Given the description of an element on the screen output the (x, y) to click on. 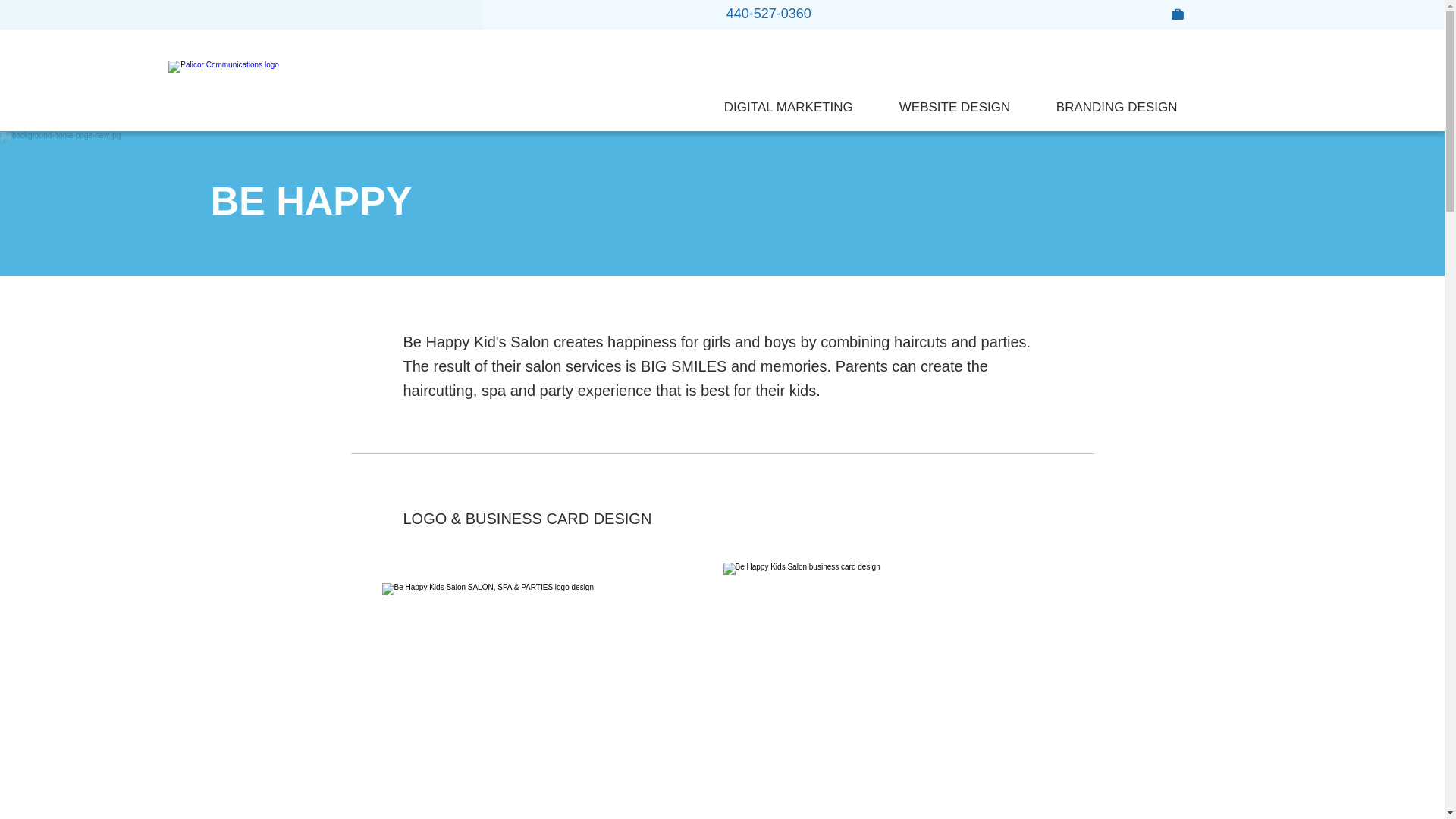
be-happy-5-flyer-business-card-mock-up.jpg (883, 687)
BRANDING DESIGN (1128, 107)
key2-k9-logo.jpg (532, 677)
DIGITAL MARKETING (800, 107)
Palicor is your creative marketing partner (240, 87)
440-527-0360 (769, 14)
WEBSITE DESIGN (966, 107)
